Given the description of an element on the screen output the (x, y) to click on. 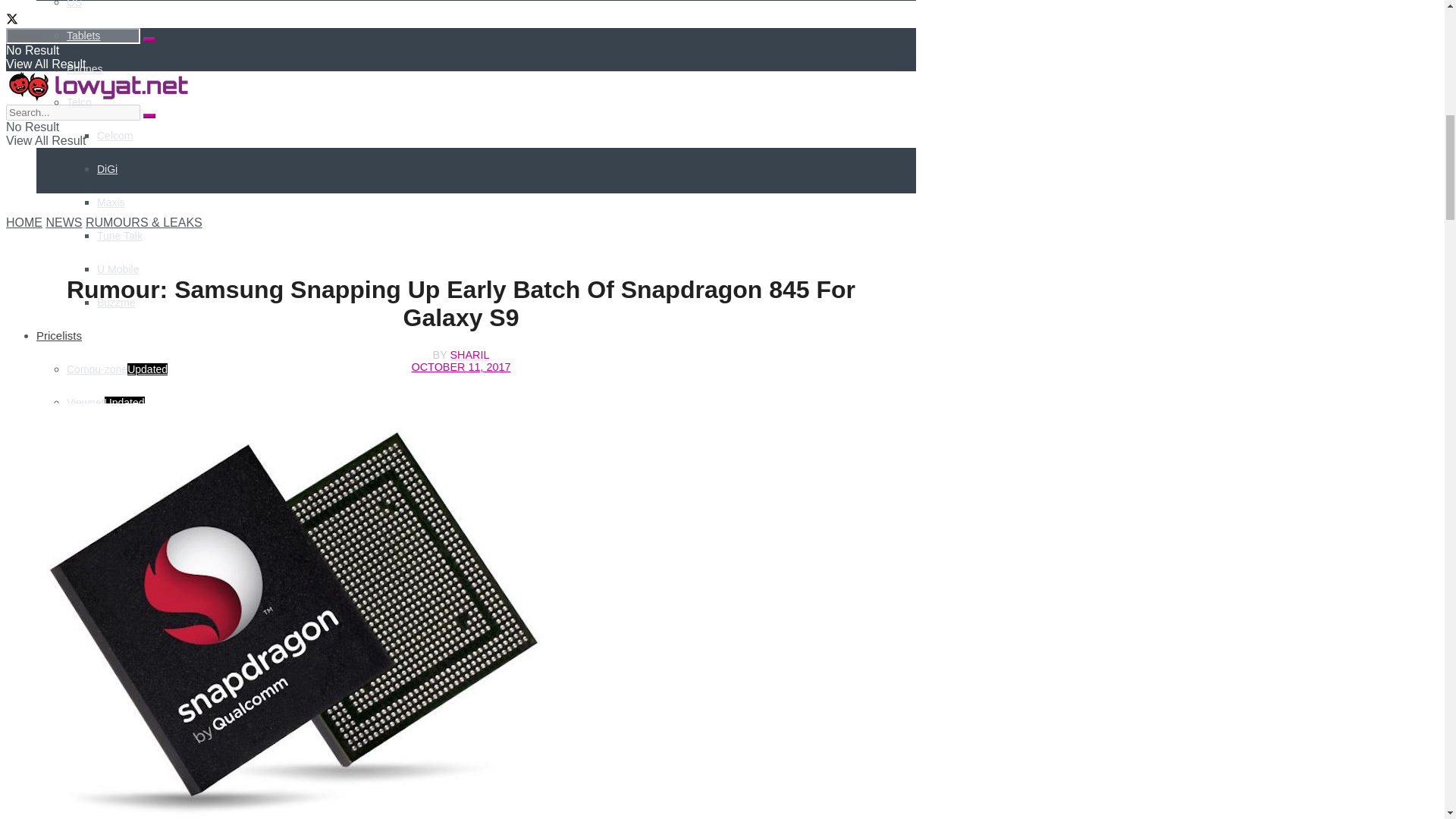
DiGi (107, 168)
Tablets (83, 35)
Maxis (111, 202)
Telco (78, 102)
OS (73, 4)
Tune Talk (119, 235)
Celcom (114, 135)
Phones (83, 69)
